Given the description of an element on the screen output the (x, y) to click on. 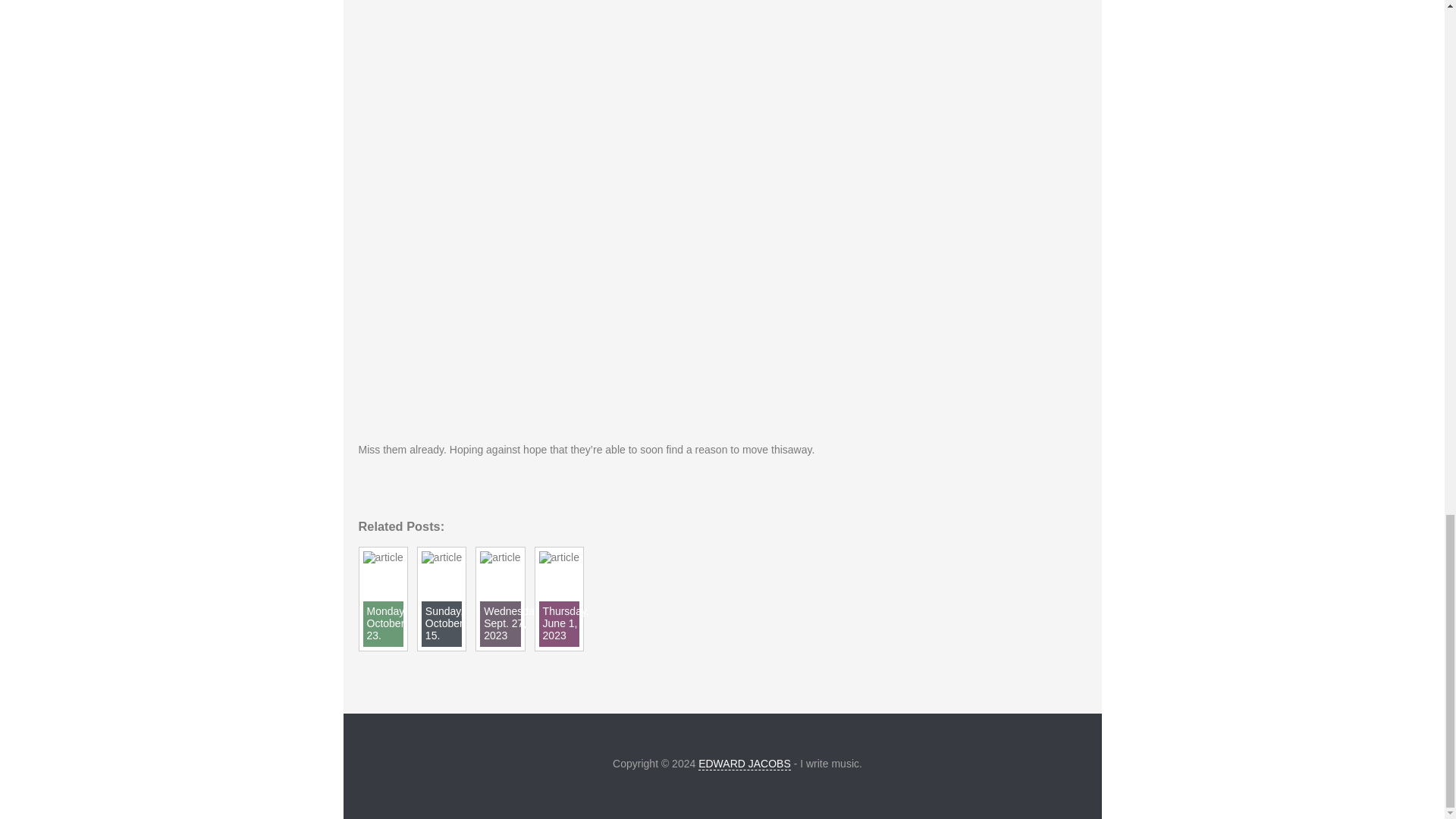
Permalink to Wednesday, Sept. 27, 2023 (499, 557)
Permalink to Monday, October 23, 2023 (382, 557)
EDWARD JACOBS (744, 763)
Permalink to Sunday, October 15, 2023 (441, 557)
Permalink to Thursday, June 1, 2023 (558, 557)
